Given the description of an element on the screen output the (x, y) to click on. 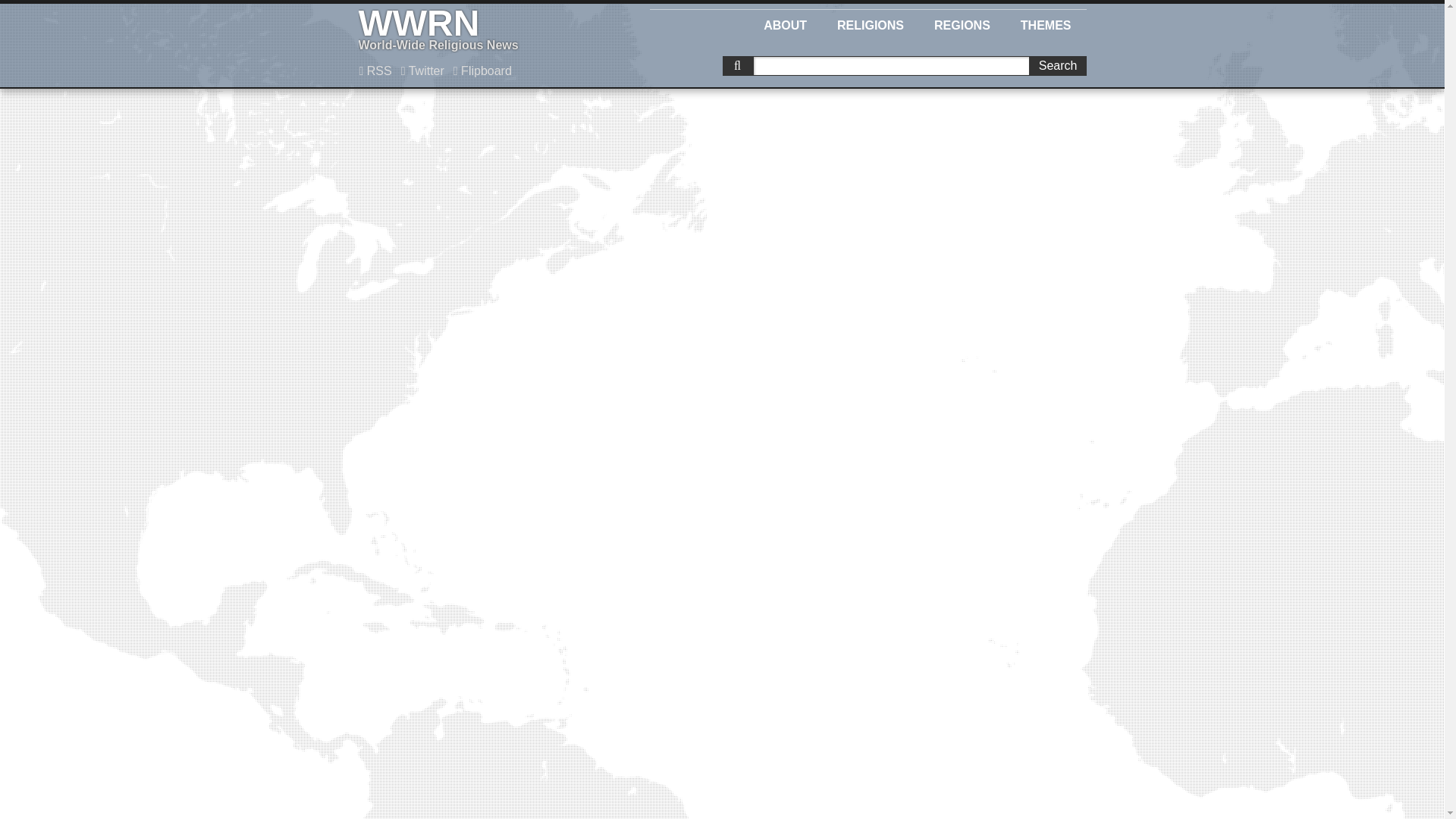
REGIONS (962, 23)
RSS (374, 70)
Twitter (422, 70)
Flipboard (485, 31)
RELIGIONS (482, 70)
ABOUT (870, 23)
THEMES (785, 23)
Search (1046, 23)
